Given the description of an element on the screen output the (x, y) to click on. 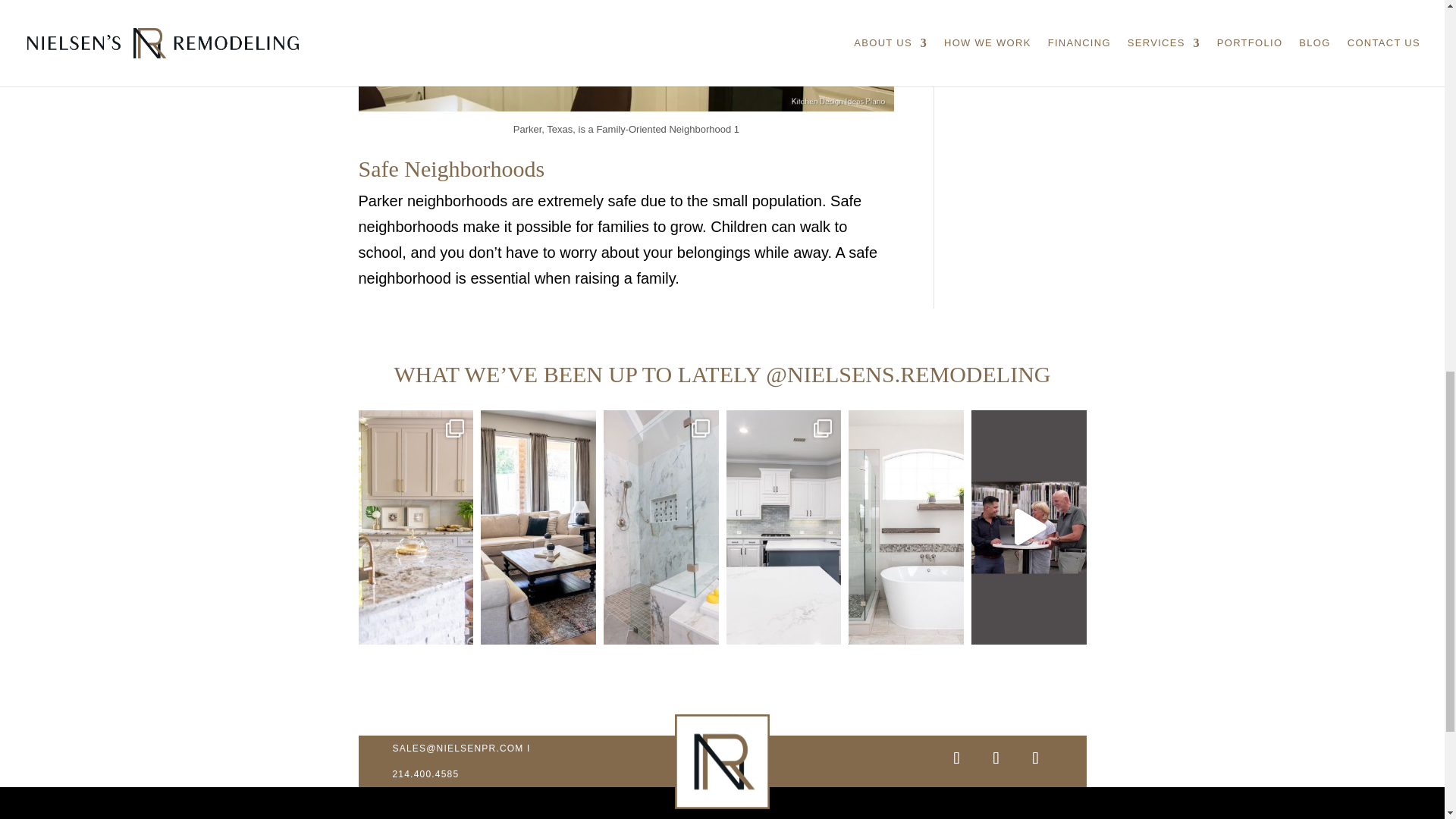
Follow on Instagram (955, 758)
Follow on Facebook (1034, 758)
Nielsen Remodeling (722, 761)
Parker, Texas, is a Family-Oriented Neighborhood (625, 55)
Follow on X (994, 758)
